Given the description of an element on the screen output the (x, y) to click on. 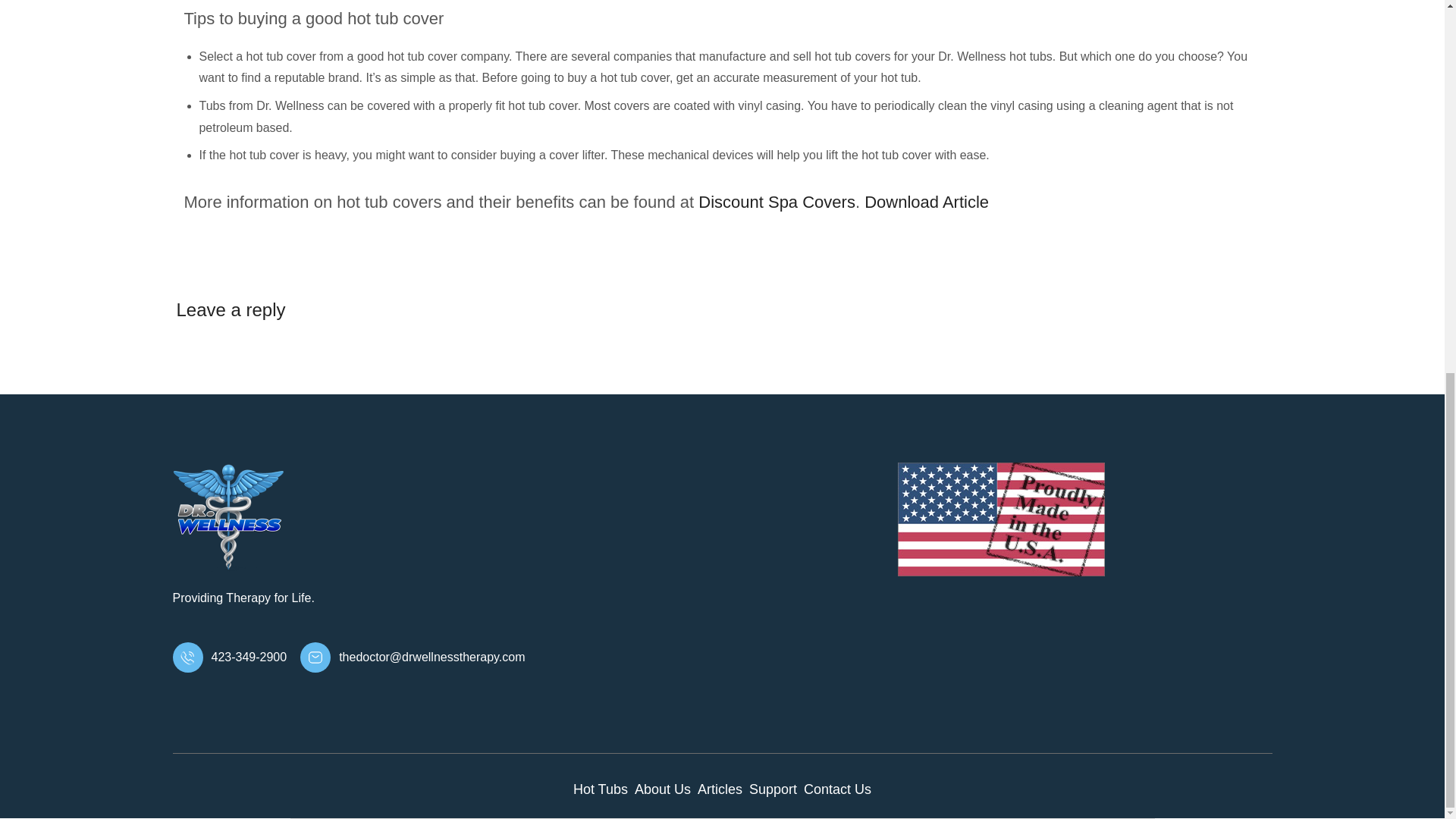
Hot Tubs (600, 789)
423-349-2900 (229, 657)
Discount Spa Covers (777, 201)
Discount Spa Covers (777, 201)
About Us (662, 789)
Download Article (926, 201)
Contact Us (836, 789)
Support (772, 789)
The Power of Water Therapy in Relieving Chronic Pain (926, 201)
Articles (719, 789)
